Given the description of an element on the screen output the (x, y) to click on. 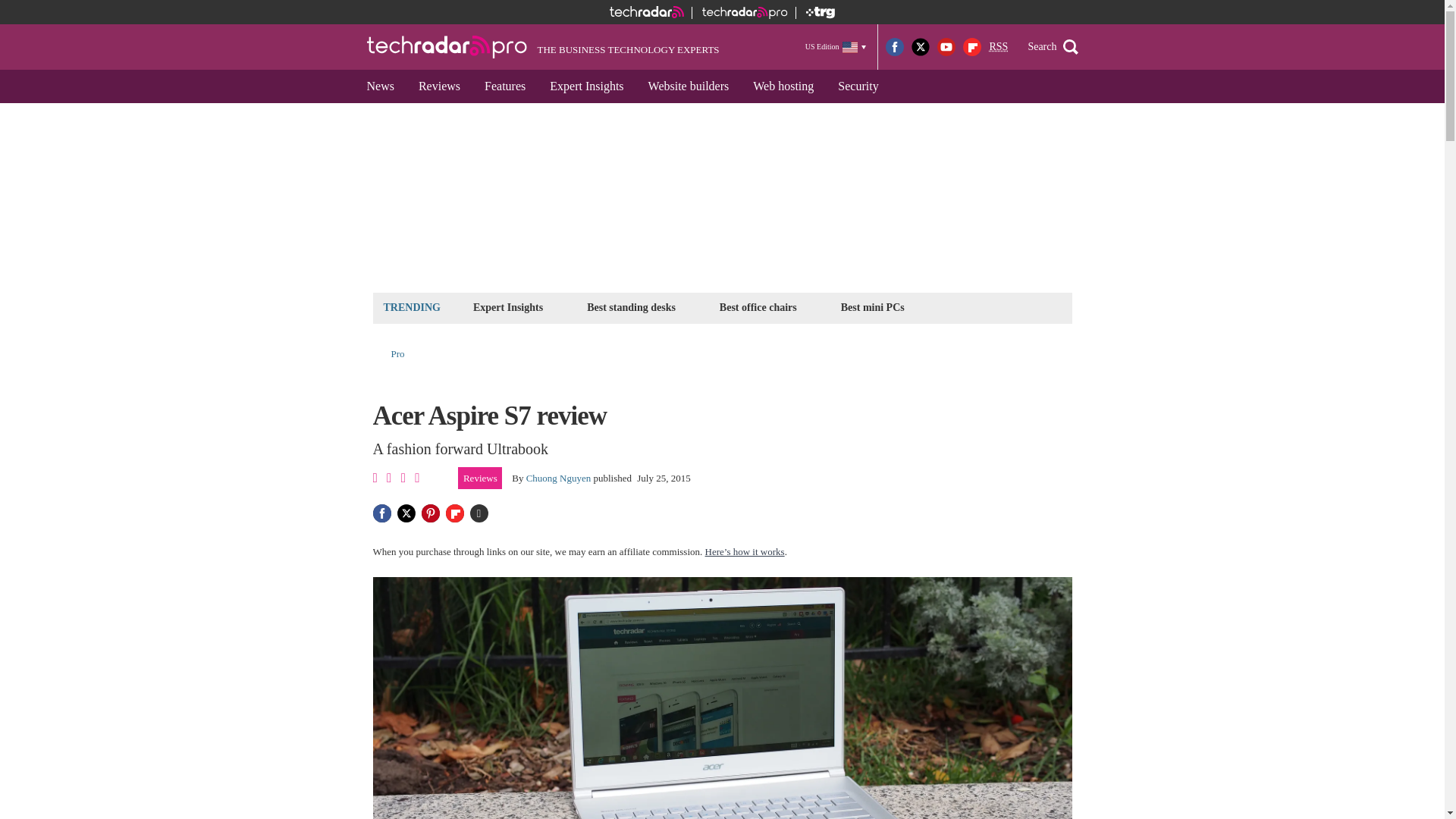
US Edition (836, 46)
Features (504, 86)
Best standing desks (630, 307)
News (380, 86)
RSS (997, 46)
Expert Insights (507, 307)
Web hosting (783, 86)
Security (857, 86)
THE BUSINESS TECHNOLOGY EXPERTS (542, 46)
Website builders (688, 86)
Really Simple Syndication (997, 46)
Expert Insights (585, 86)
Reviews (438, 86)
Best office chairs (758, 307)
